Given the description of an element on the screen output the (x, y) to click on. 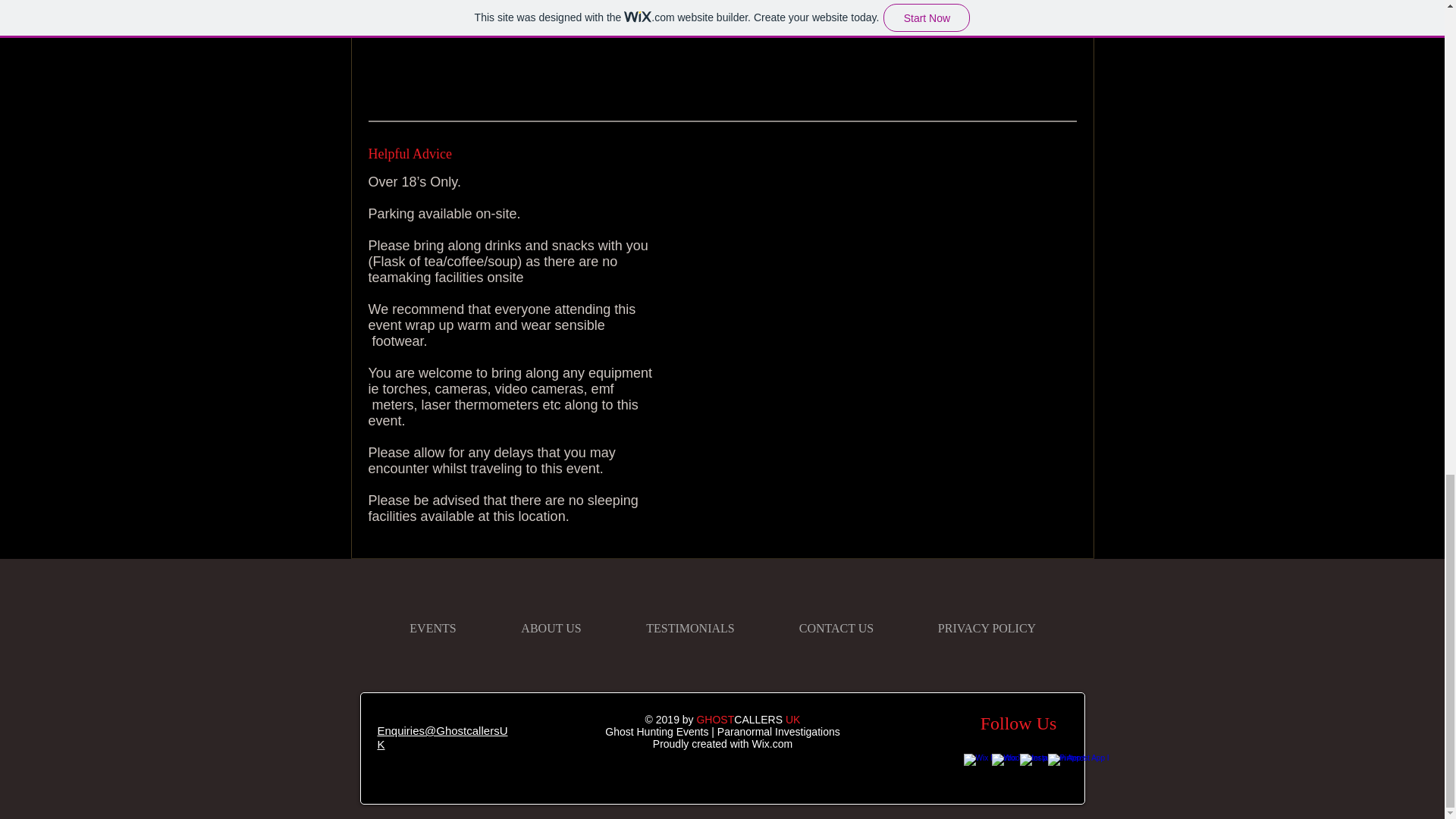
TESTIMONIALS (690, 628)
ABOUT US (549, 628)
PRIVACY POLICY (986, 628)
Wix.com (772, 743)
CONTACT US (836, 628)
EVENTS (433, 628)
